Given the description of an element on the screen output the (x, y) to click on. 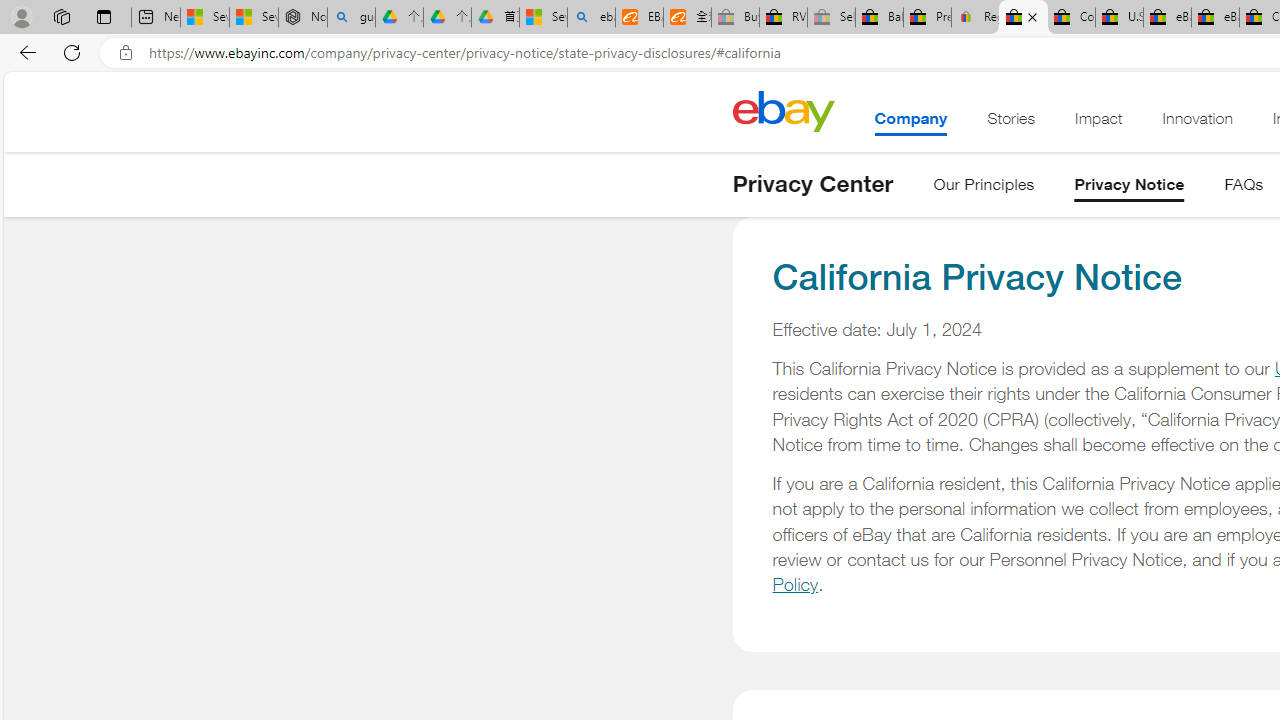
Privacy Notice (1129, 188)
Sell worldwide with eBay - Sleeping (831, 17)
Buy Auto Parts & Accessories | eBay - Sleeping (735, 17)
Register: Create a personal eBay account (975, 17)
U.S. State Privacy Disclosures - eBay Inc. (1119, 17)
Privacy Center (812, 183)
